Given the description of an element on the screen output the (x, y) to click on. 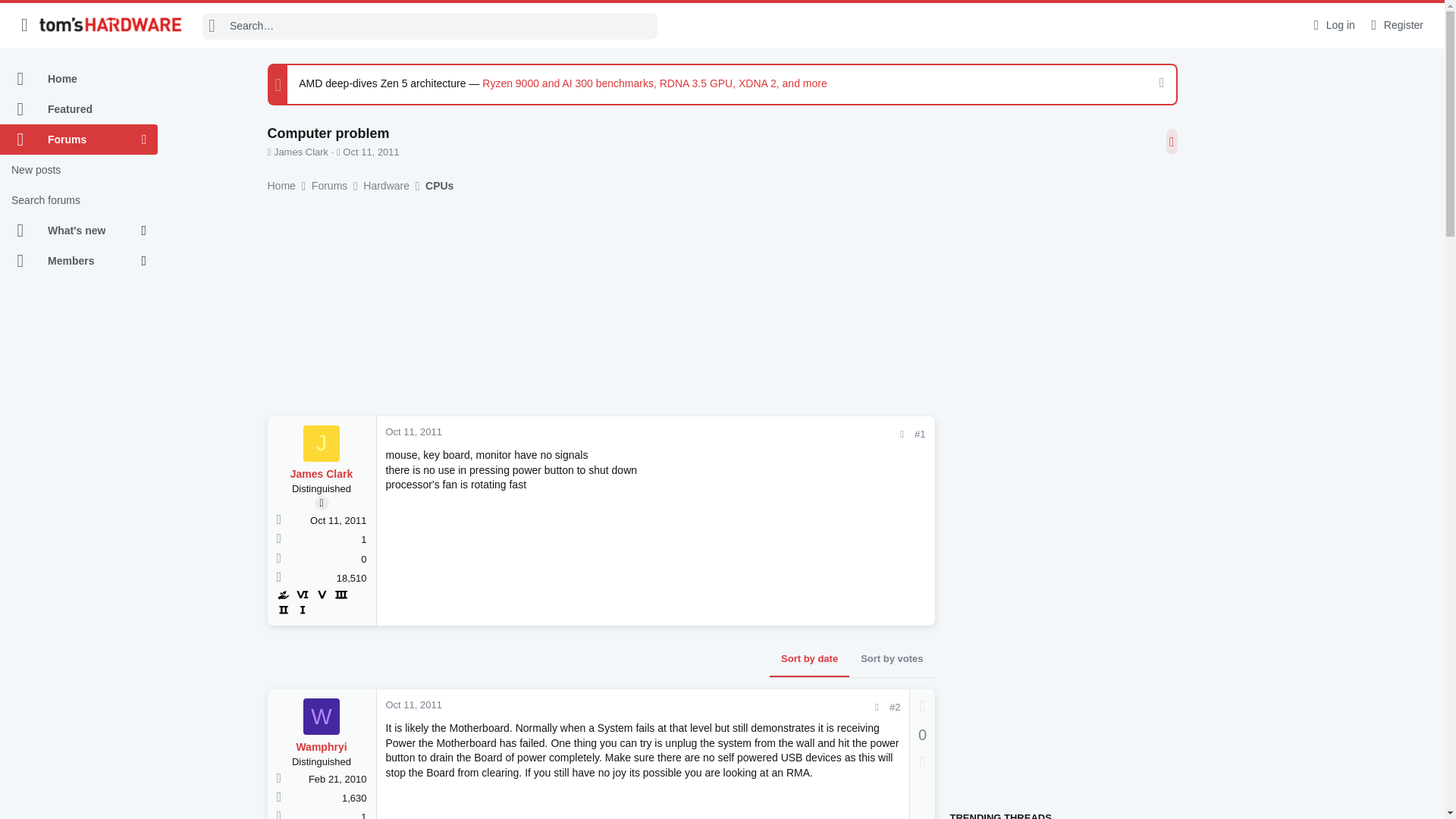
Forums (70, 139)
New posts (78, 169)
Home (78, 78)
Oct 11, 2011 at 7:56 AM (413, 431)
Log in (1332, 24)
Oct 11, 2011 at 8:16 AM (413, 704)
Oct 11, 2011 at 7:56 AM (370, 152)
Featured (78, 109)
Register (1395, 24)
Search forums (78, 200)
What's new (70, 230)
